Given the description of an element on the screen output the (x, y) to click on. 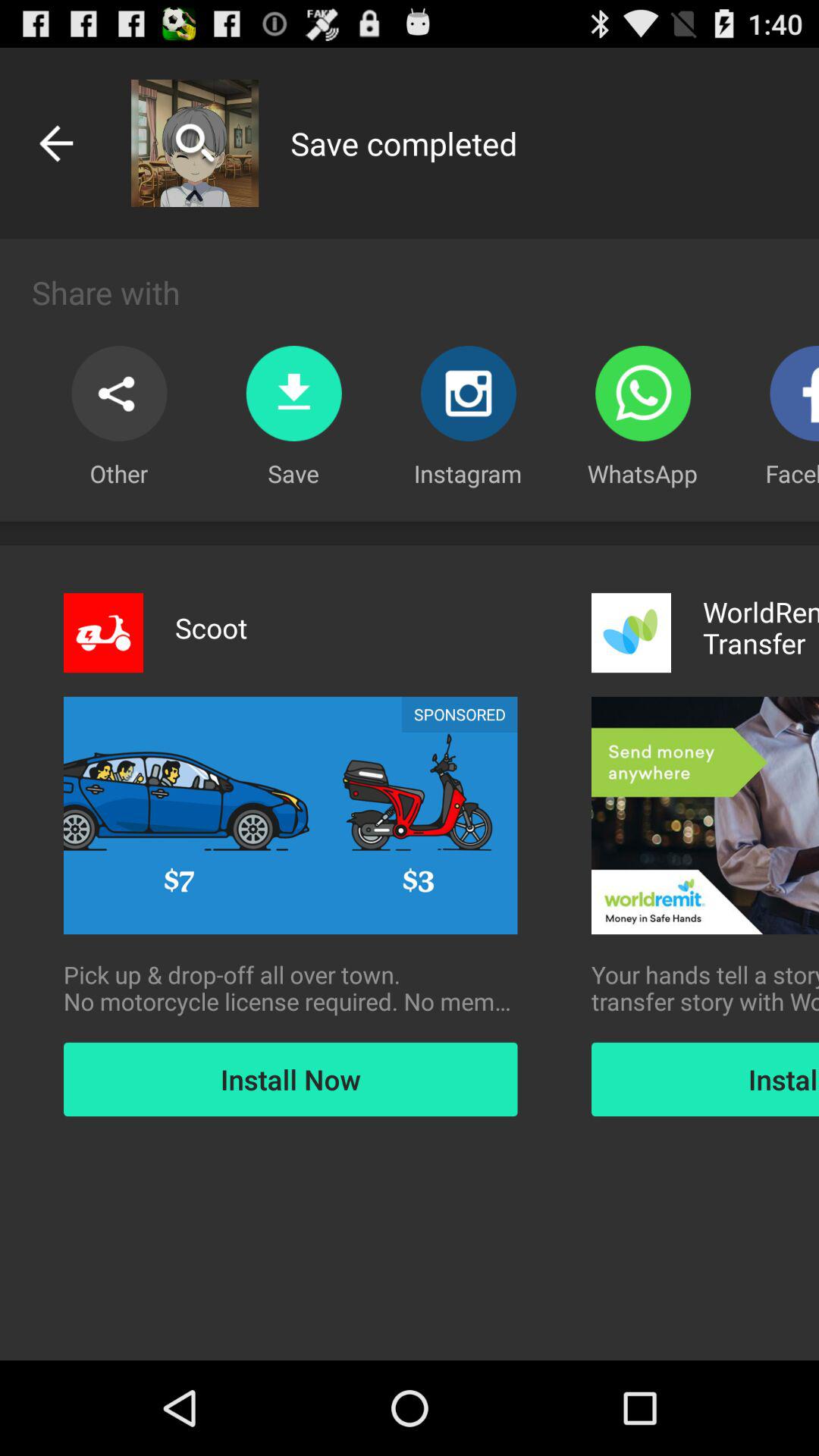
swipe to the scoot item (211, 628)
